Given the description of an element on the screen output the (x, y) to click on. 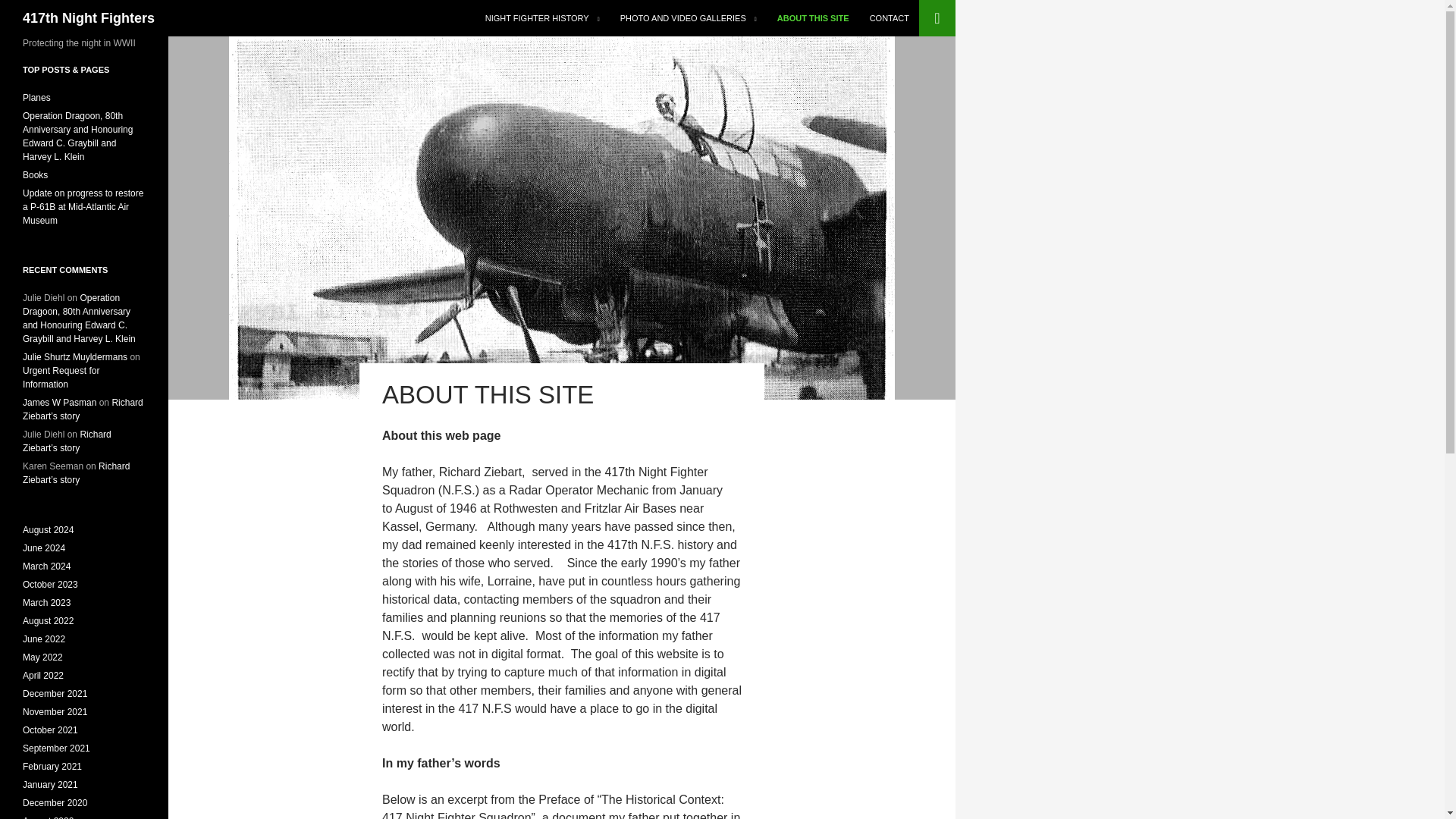
Urgent Request for Information (61, 377)
August 2024 (48, 529)
417th Night Fighters (88, 18)
Planes (36, 97)
Books (35, 174)
Julie Shurtz Muyldermans (75, 357)
CONTACT (889, 18)
